Given the description of an element on the screen output the (x, y) to click on. 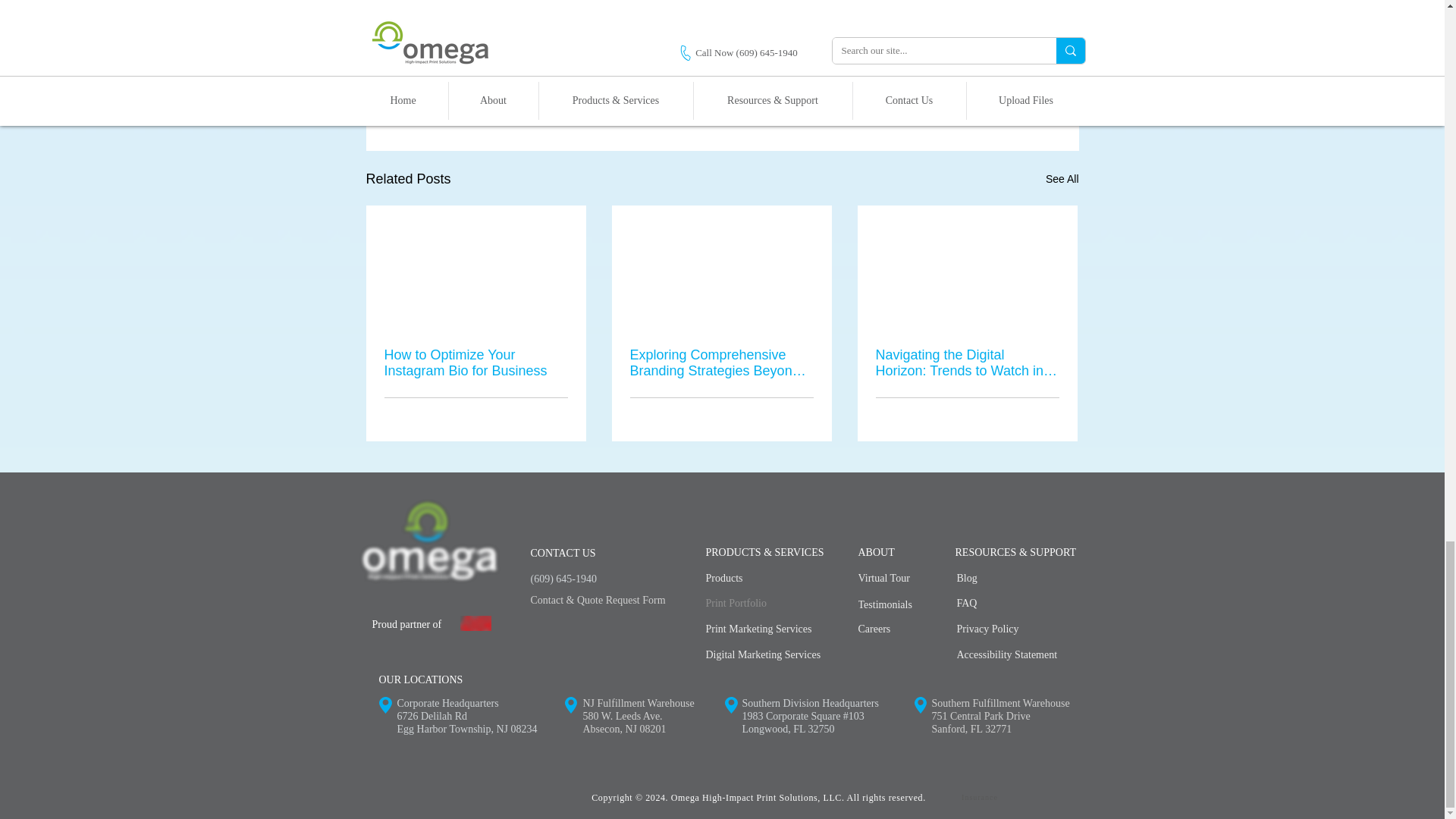
Exploring Comprehensive Branding Strategies Beyond the Logo (720, 363)
See All (1061, 179)
Design (919, 81)
Navigating the Digital Horizon: Trends to Watch in 2024 (966, 363)
How to Optimize Your Instagram Bio for Business (475, 363)
Blog Posts (977, 81)
